Given the description of an element on the screen output the (x, y) to click on. 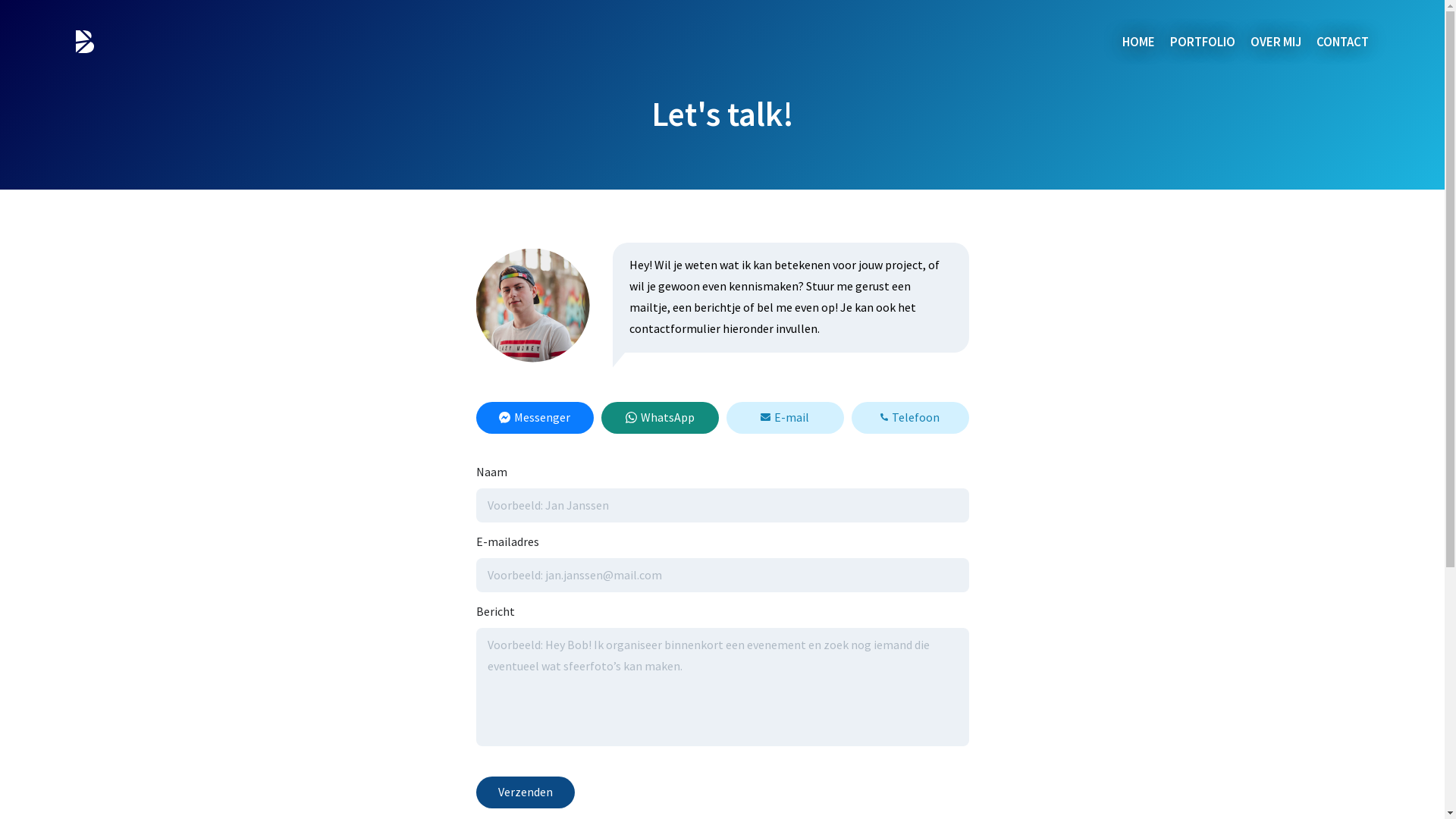
Verzenden Element type: text (525, 792)
PORTFOLIO Element type: text (1202, 41)
Messenger Element type: text (534, 417)
HOME Element type: text (1138, 41)
OVER MIJ Element type: text (1275, 41)
WhatsApp Element type: text (659, 417)
E-mail Element type: text (785, 417)
CONTACT Element type: text (1342, 41)
Telefoon Element type: text (909, 417)
